Given the description of an element on the screen output the (x, y) to click on. 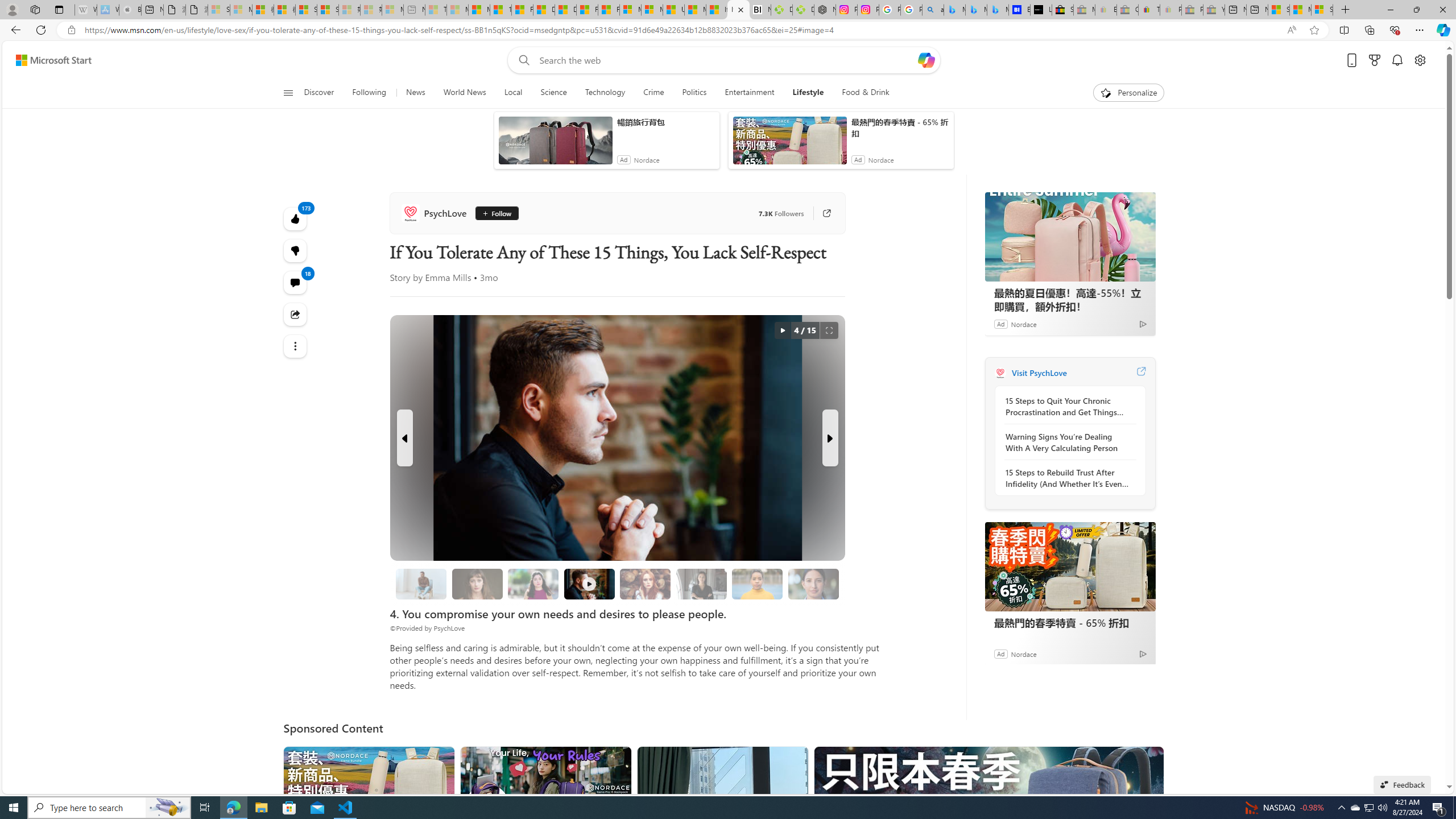
anim-content (789, 144)
Class: progress (813, 581)
Threats and offensive language policy | eBay (1149, 9)
